Given the description of an element on the screen output the (x, y) to click on. 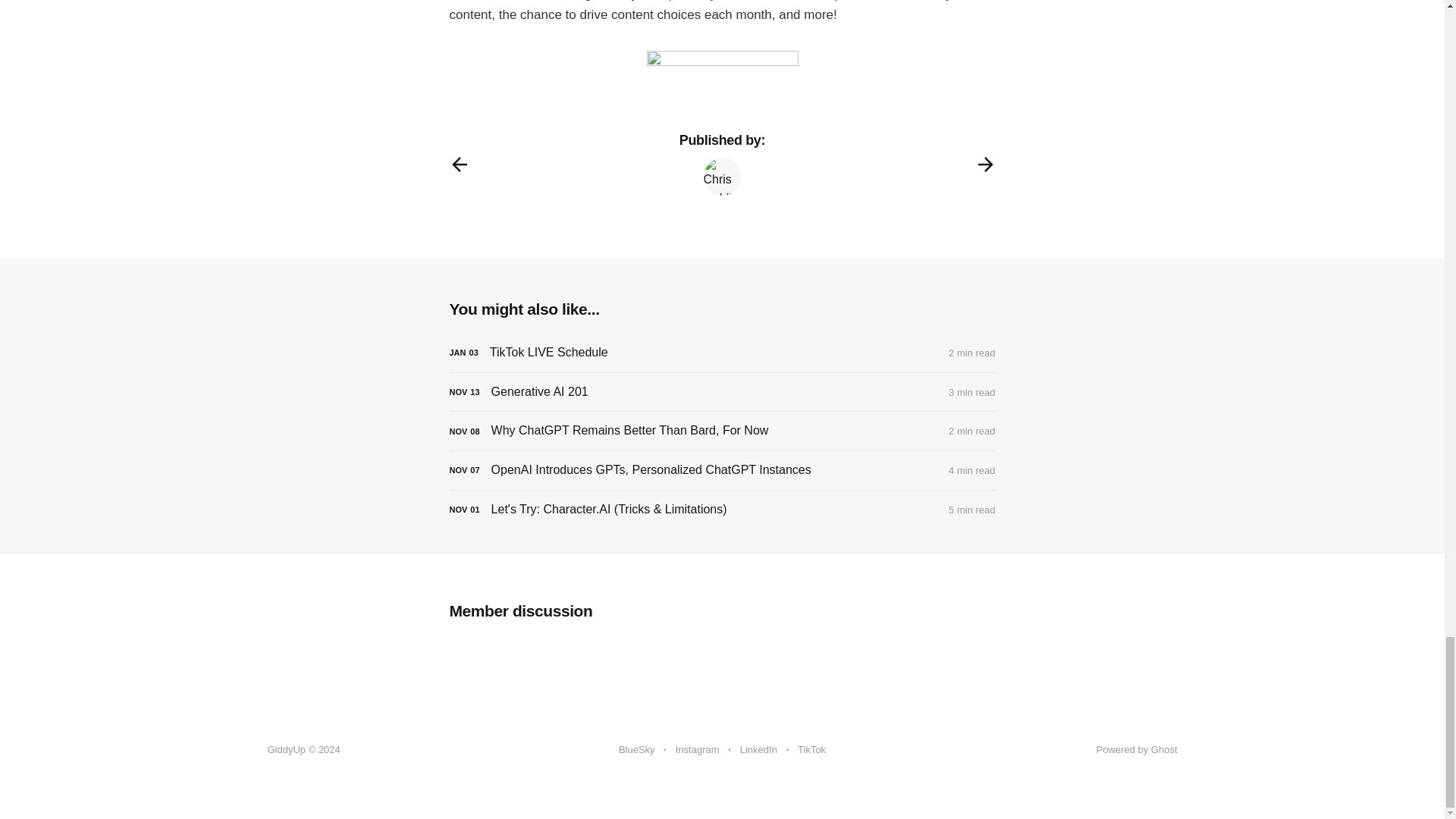
BlueSky (636, 750)
TikTok (811, 750)
Powered by Ghost (1136, 749)
Instagram (697, 750)
LinkedIn (758, 750)
